Given the description of an element on the screen output the (x, y) to click on. 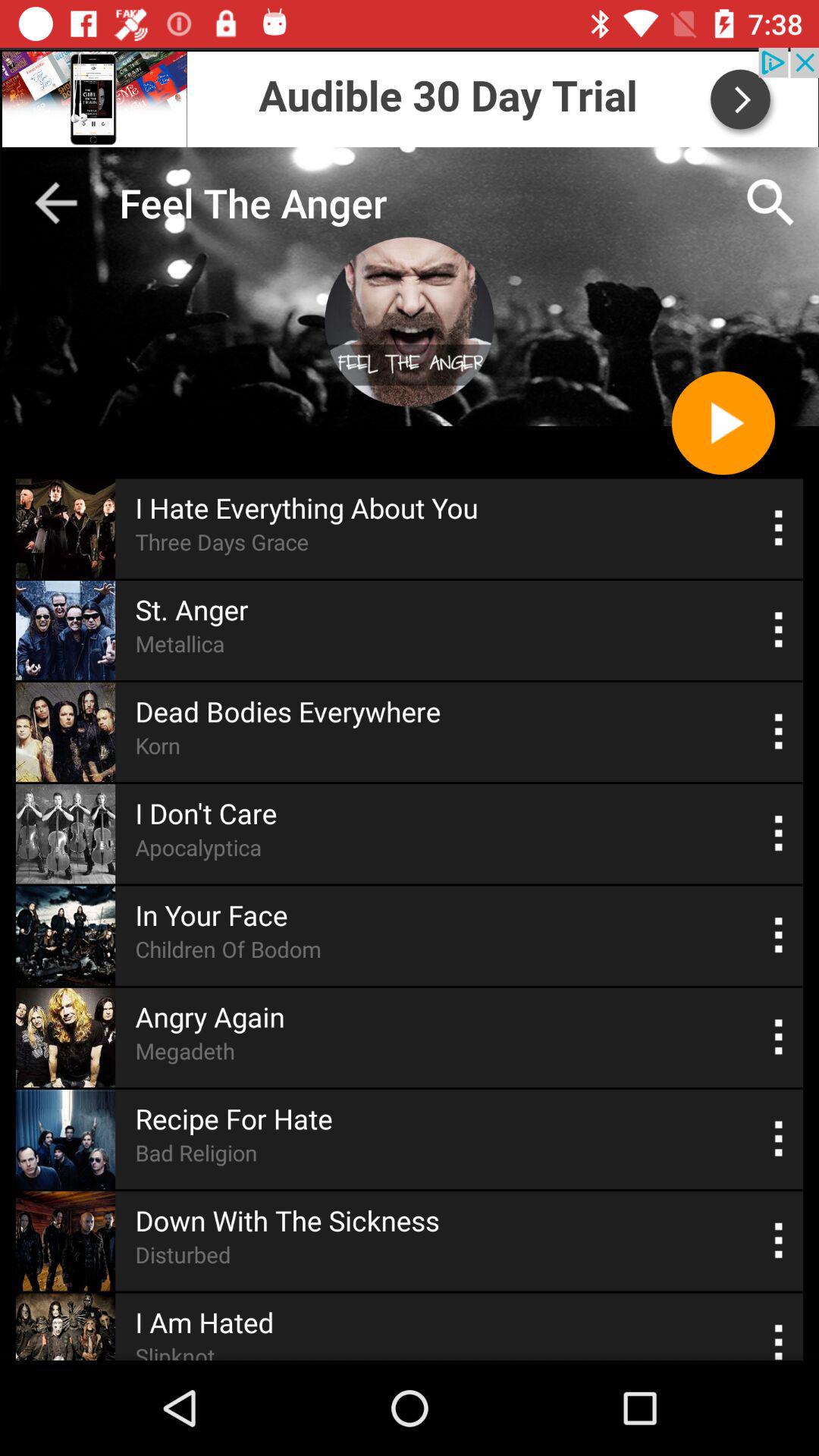
song details (779, 935)
